Given the description of an element on the screen output the (x, y) to click on. 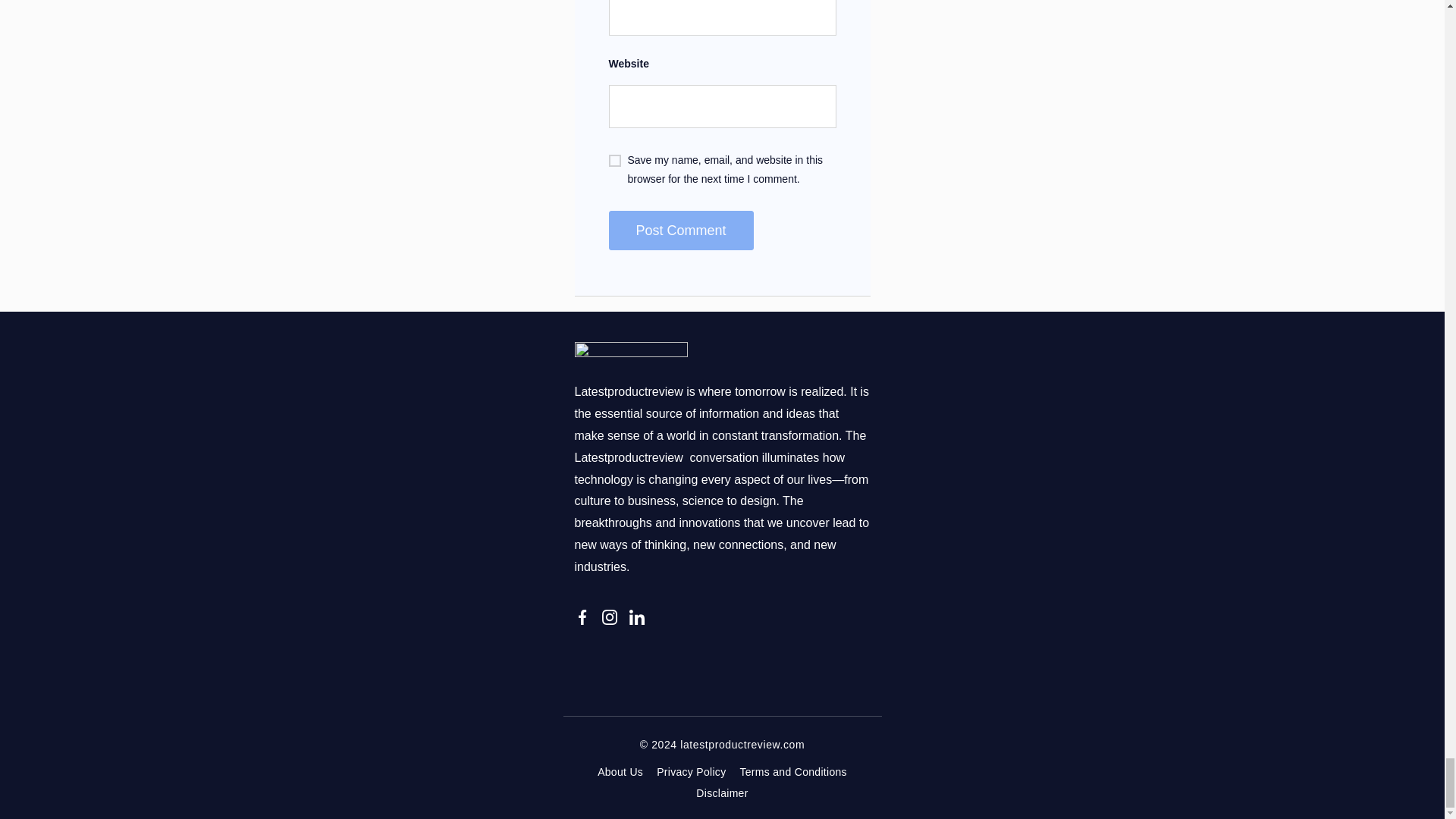
Post Comment (680, 230)
